Given the description of an element on the screen output the (x, y) to click on. 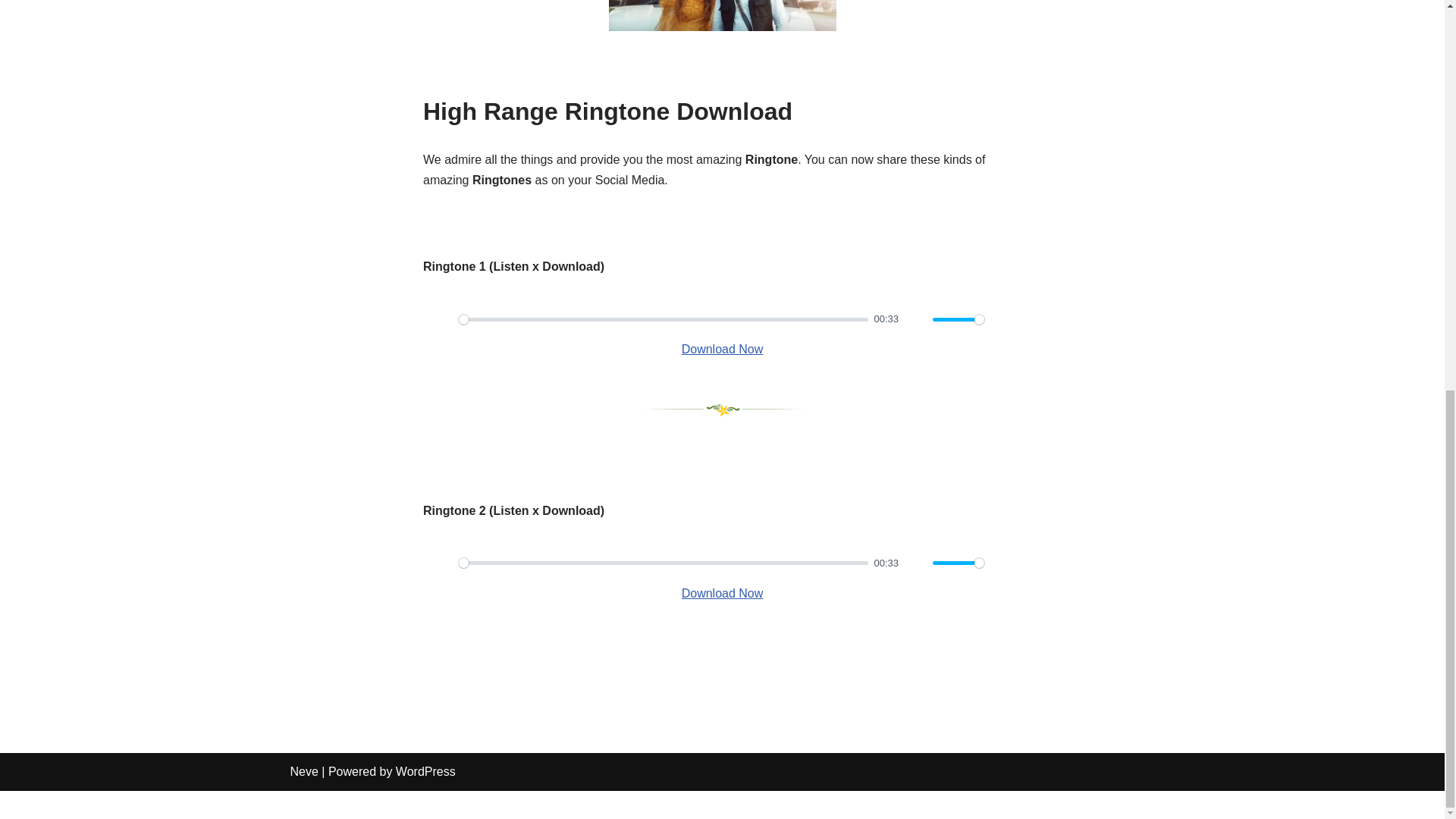
1 (958, 319)
0 (662, 319)
0 (662, 563)
1 (958, 563)
